Given the description of an element on the screen output the (x, y) to click on. 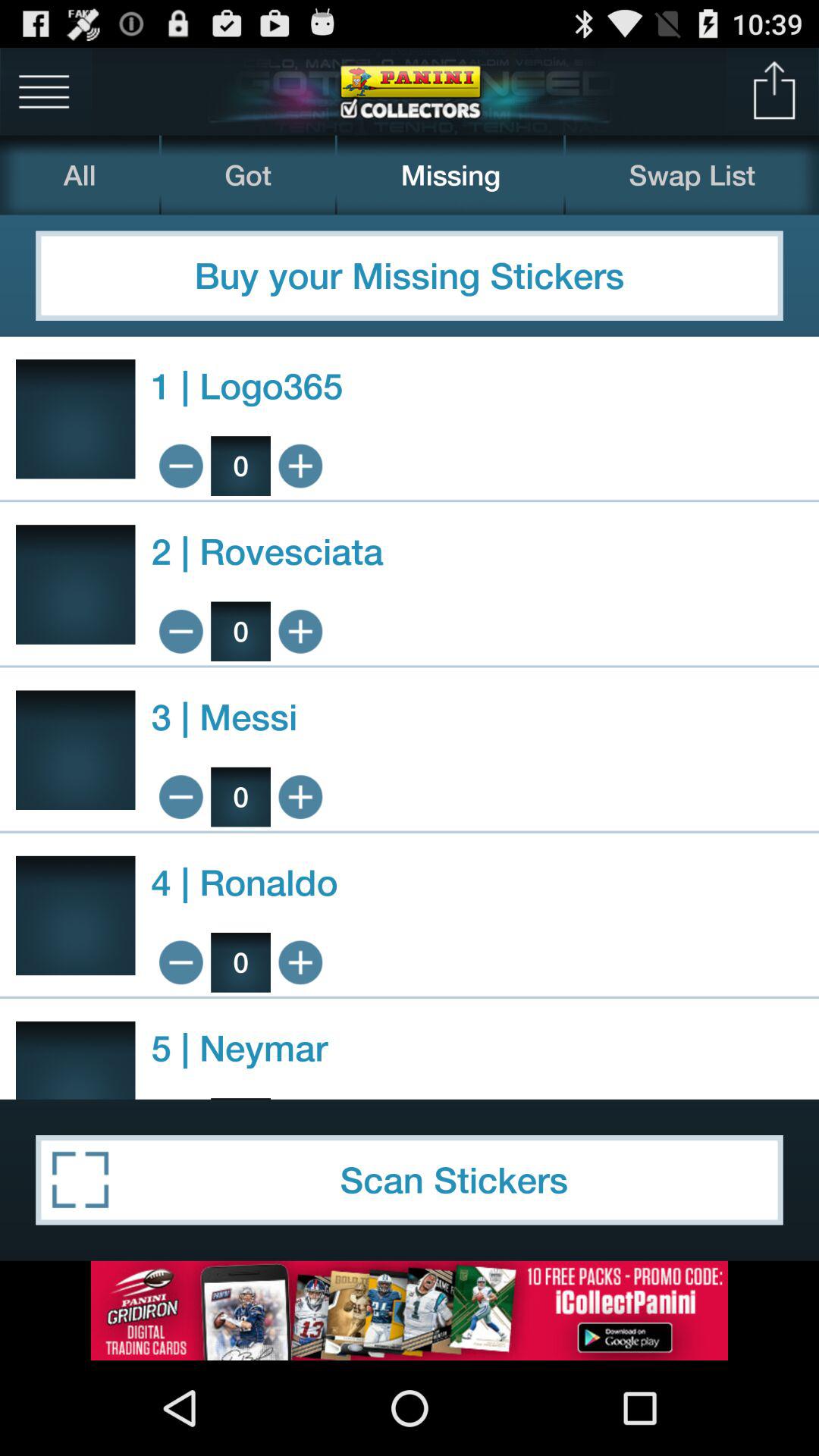
add to cart (300, 631)
